Given the description of an element on the screen output the (x, y) to click on. 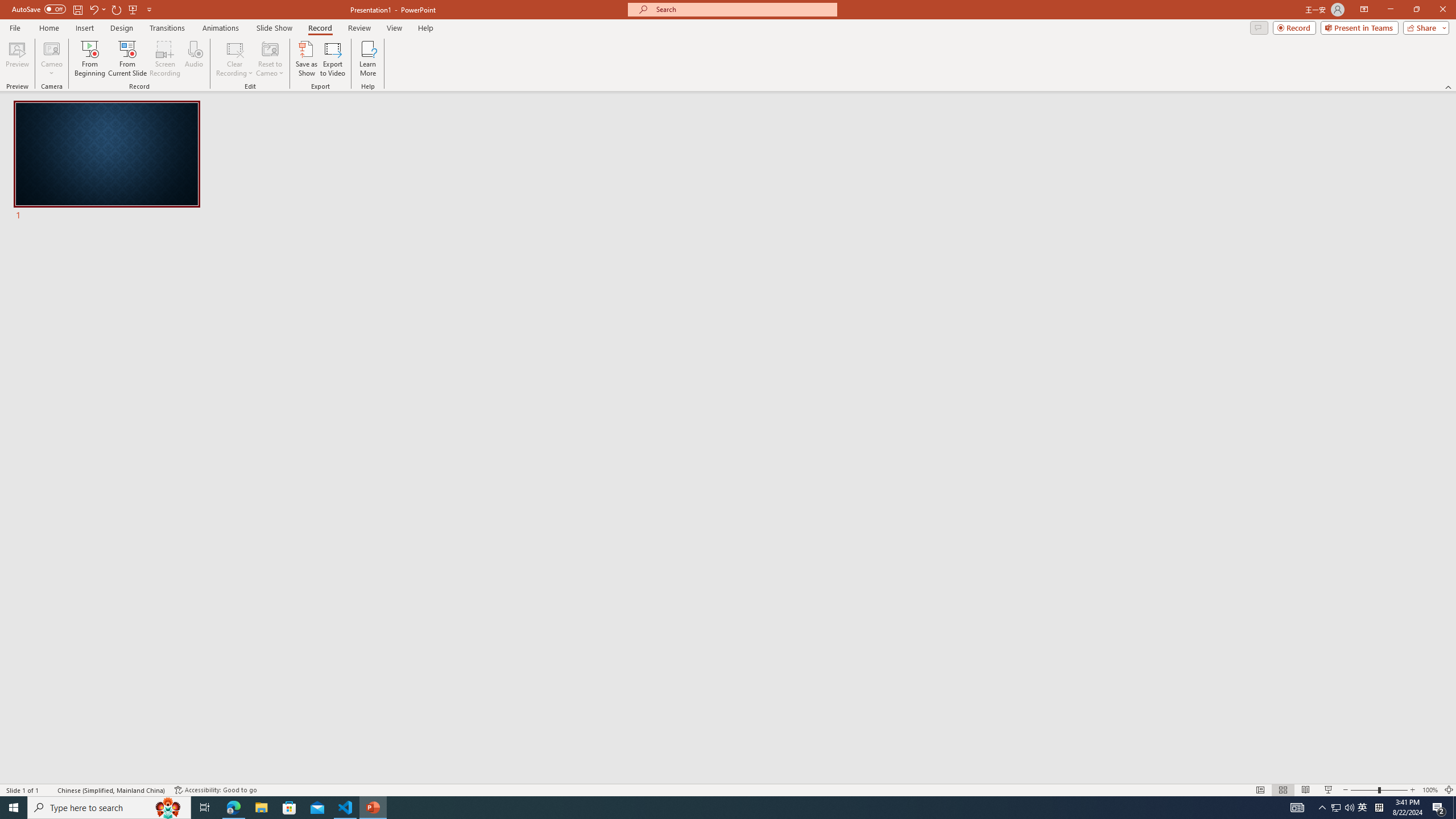
Zoom 100% (1430, 790)
